Given the description of an element on the screen output the (x, y) to click on. 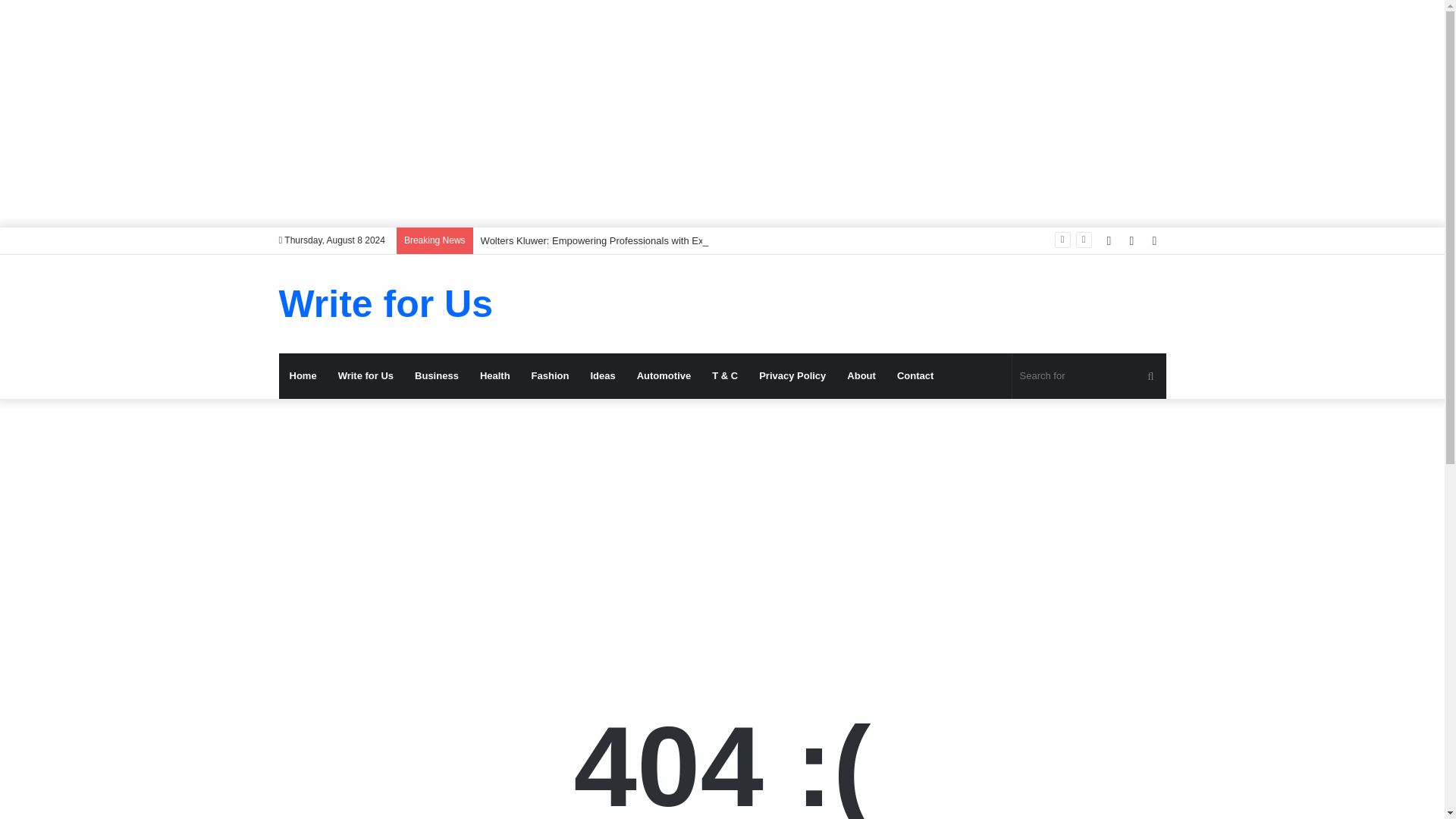
Health (494, 375)
Ideas (602, 375)
Automotive (663, 375)
Contact (914, 375)
Write for Us (386, 303)
Home (303, 375)
Privacy Policy (791, 375)
Write for Us (365, 375)
Fashion (550, 375)
About (860, 375)
Write for Us (386, 303)
Business (436, 375)
Search for (1088, 375)
